Given the description of an element on the screen output the (x, y) to click on. 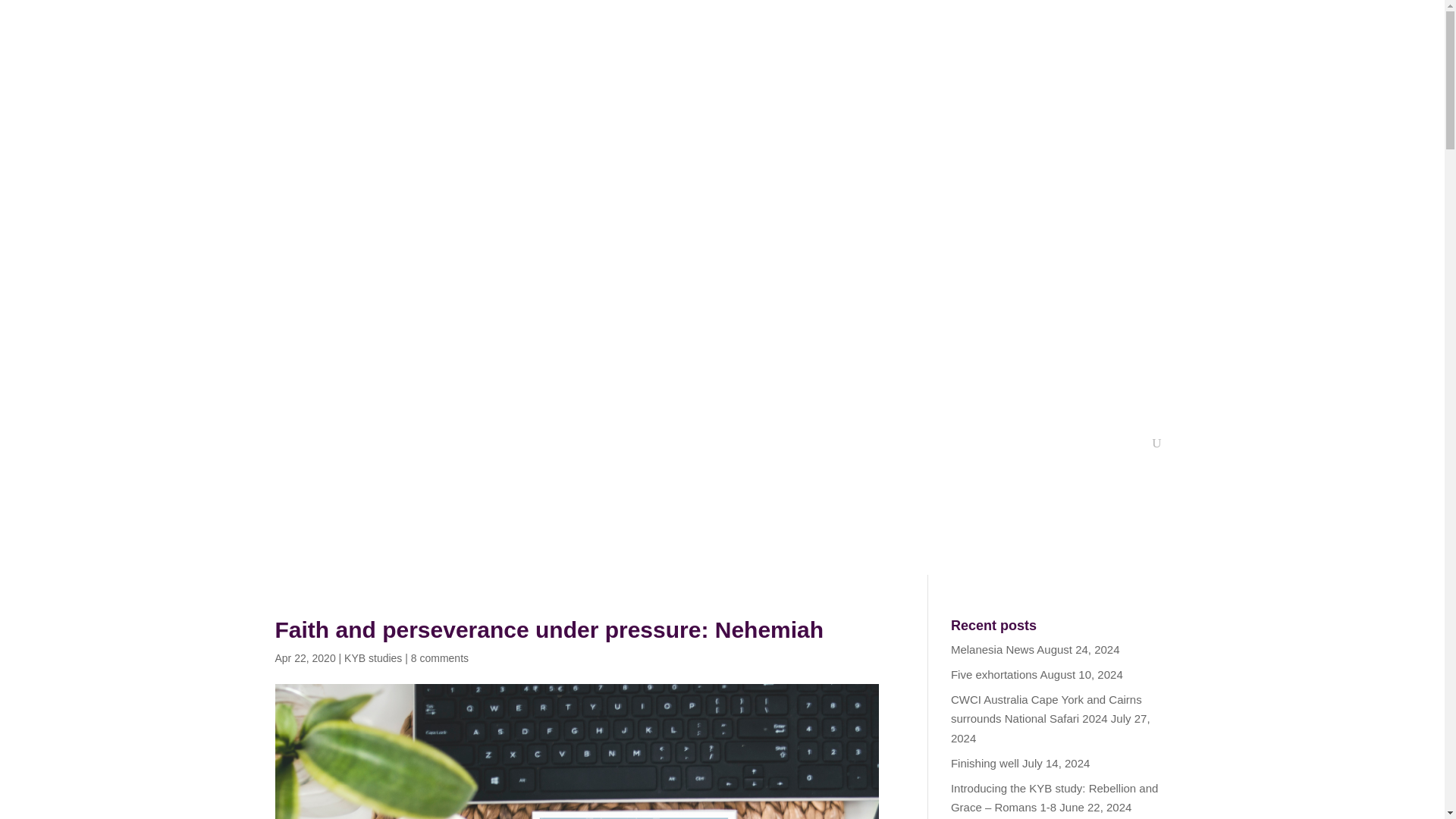
8 comments (439, 657)
Know Your Bible (909, 295)
KYB studies (372, 657)
